Given the description of an element on the screen output the (x, y) to click on. 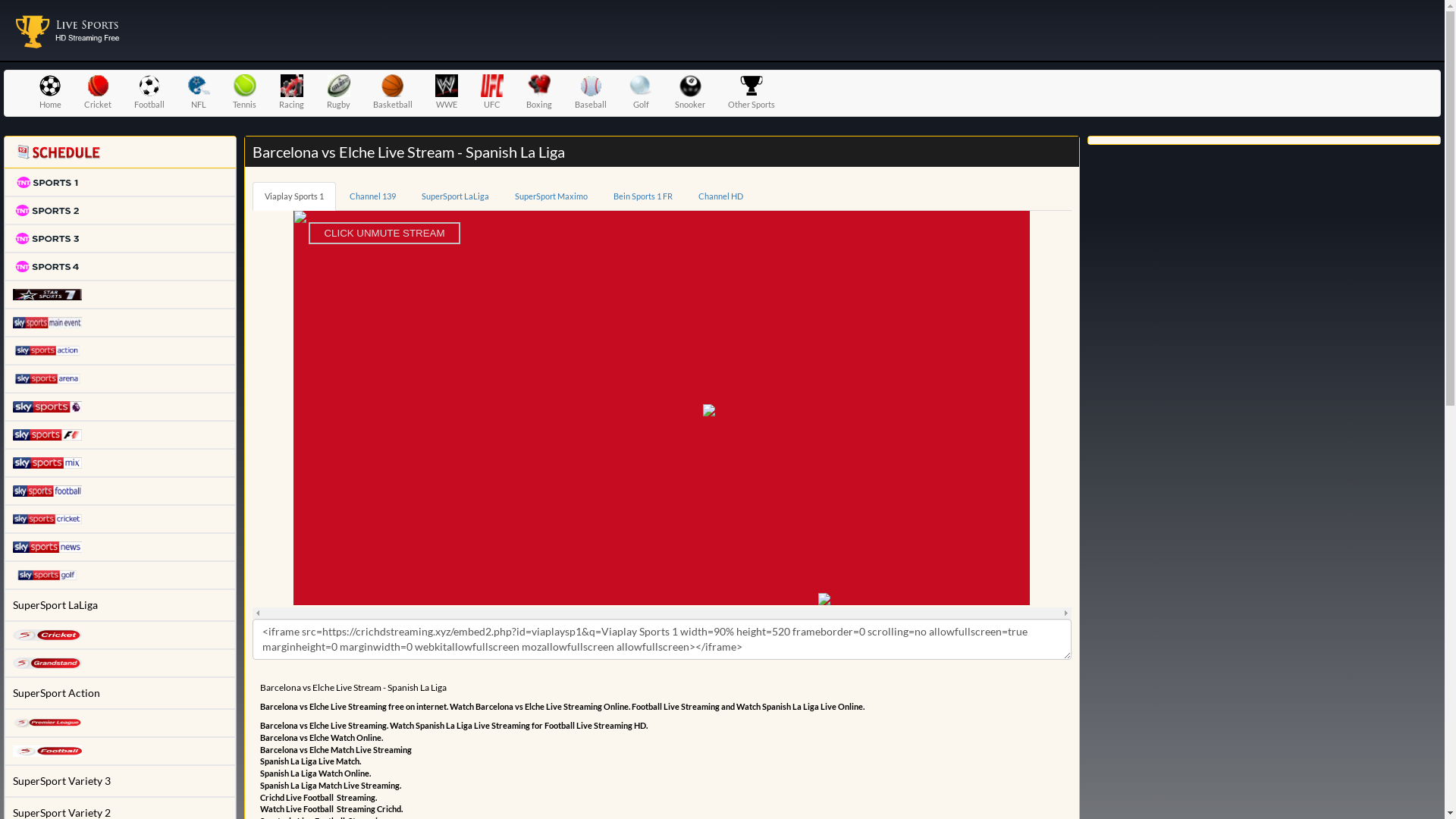
Channel HD Element type: text (720, 196)
Other Sports Element type: text (751, 93)
SuperSport LaLiga Element type: text (455, 196)
Rugby Element type: text (338, 93)
WWE Element type: text (446, 93)
Viaplay Sports 1 Element type: text (293, 196)
Tennis Element type: text (244, 93)
Golf Element type: text (640, 93)
UFC Element type: text (491, 93)
SuperSport Action Element type: text (119, 693)
NFL Element type: text (198, 93)
SuperSport Maximo Element type: text (550, 196)
Racing Element type: text (291, 93)
Baseball Element type: text (590, 93)
Home Element type: text (49, 93)
Barcelona vs Elche Live Stream - Spanish La Liga Element type: hover (68, 30)
Basketball Element type: text (392, 93)
Boxing Element type: text (538, 93)
SuperSport Variety 3 Element type: text (119, 781)
Football Element type: text (148, 93)
Bein Sports 1 FR Element type: text (642, 196)
Cricket Element type: text (97, 93)
Snooker Element type: text (689, 93)
SuperSport LaLiga Element type: text (119, 605)
Channel 139 Element type: text (372, 196)
Barcelona vs Elche Live Stream - Spanish La Liga Element type: hover (68, 29)
